Given the description of an element on the screen output the (x, y) to click on. 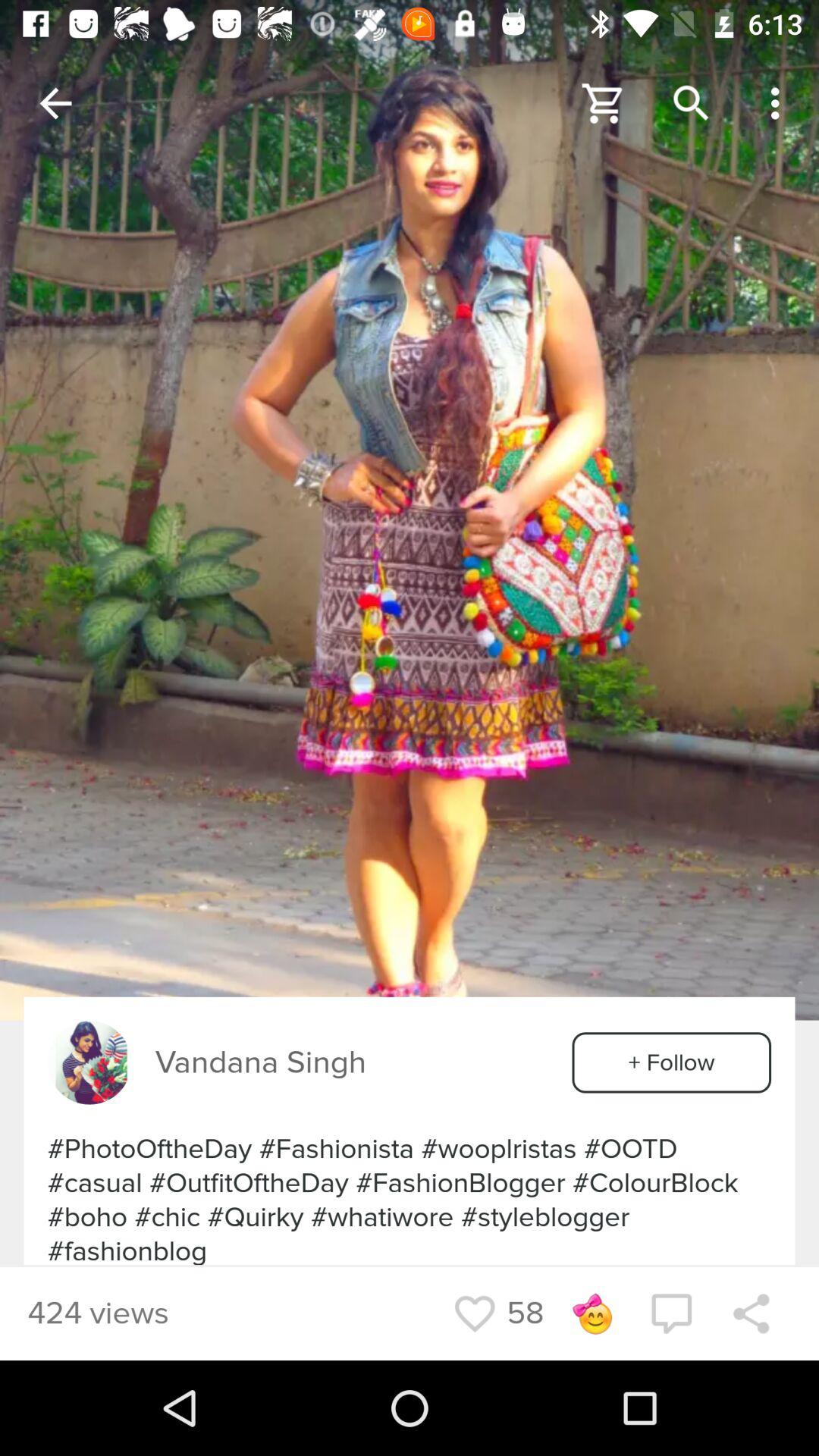
command (671, 1313)
